Given the description of an element on the screen output the (x, y) to click on. 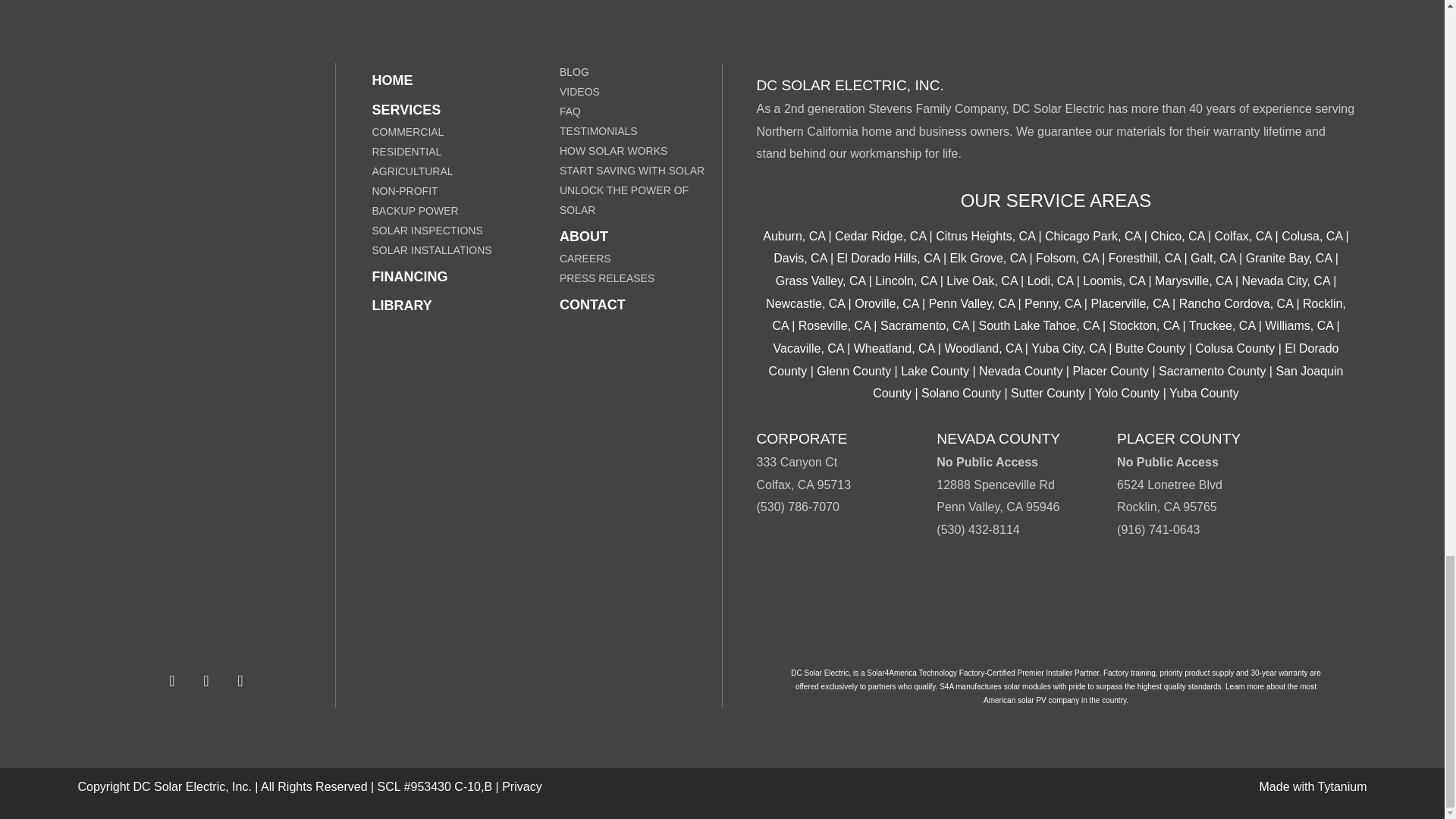
S4A Premier Installer Badge (1055, 609)
